Given the description of an element on the screen output the (x, y) to click on. 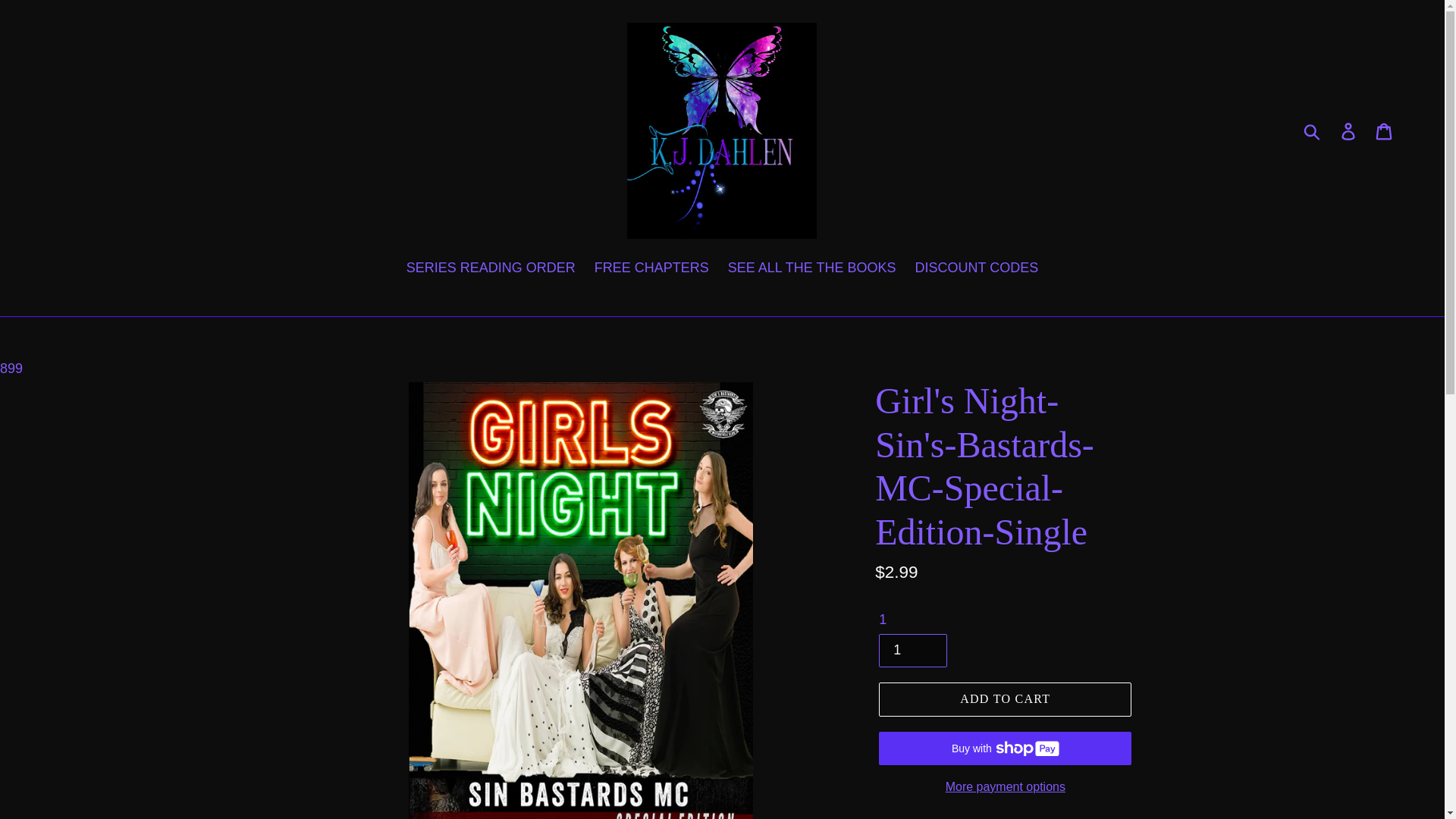
SEE ALL THE THE BOOKS (812, 268)
Log in (1349, 130)
FREE CHAPTERS (651, 268)
DISCOUNT CODES (976, 268)
1 (913, 650)
Submit (1313, 130)
More payment options (1005, 786)
ADD TO CART (1005, 698)
Cart (1385, 130)
SERIES READING ORDER (490, 268)
